Given the description of an element on the screen output the (x, y) to click on. 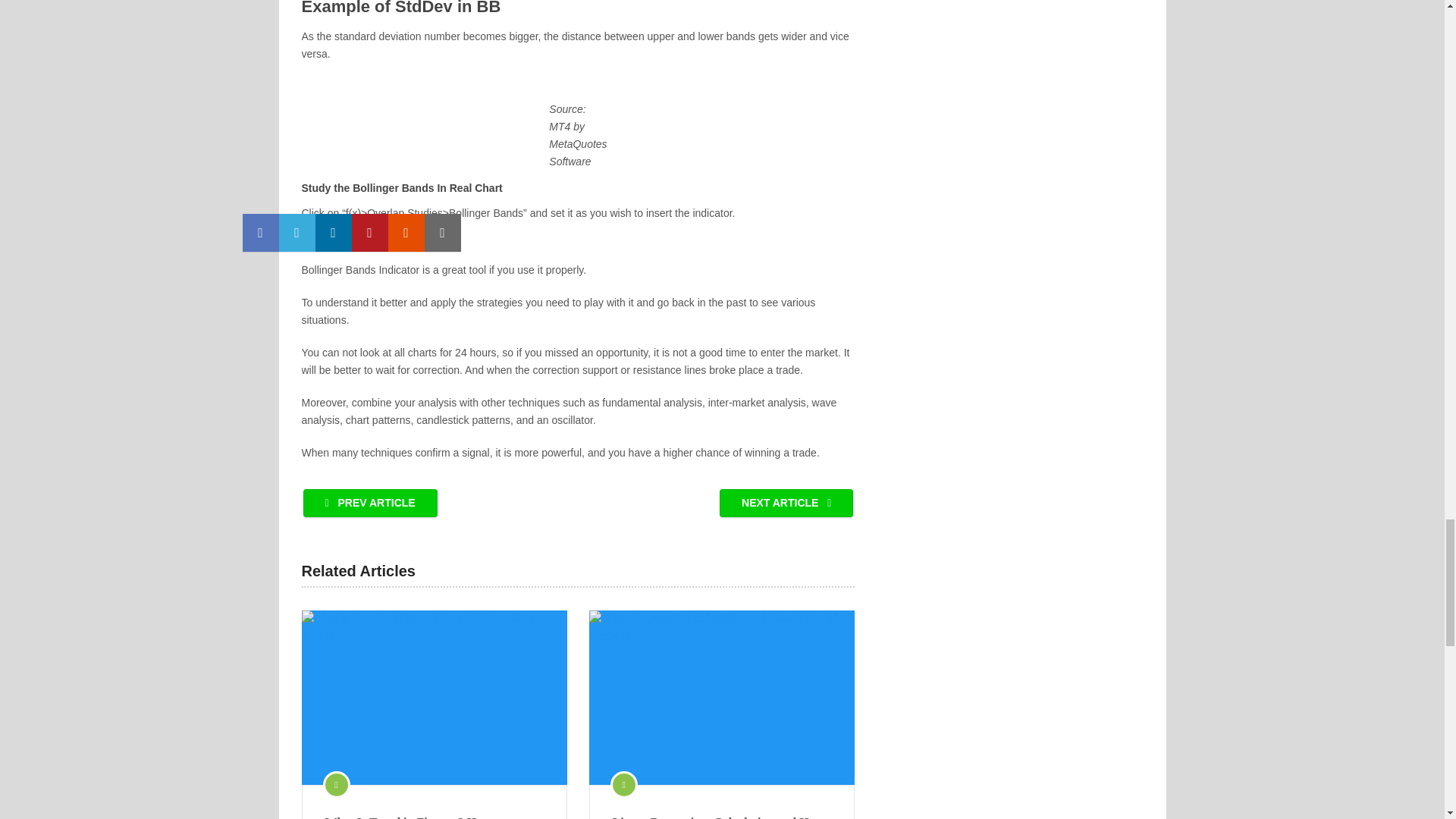
What Is Trend in Finance? How to Determine a Trend? (434, 697)
